Given the description of an element on the screen output the (x, y) to click on. 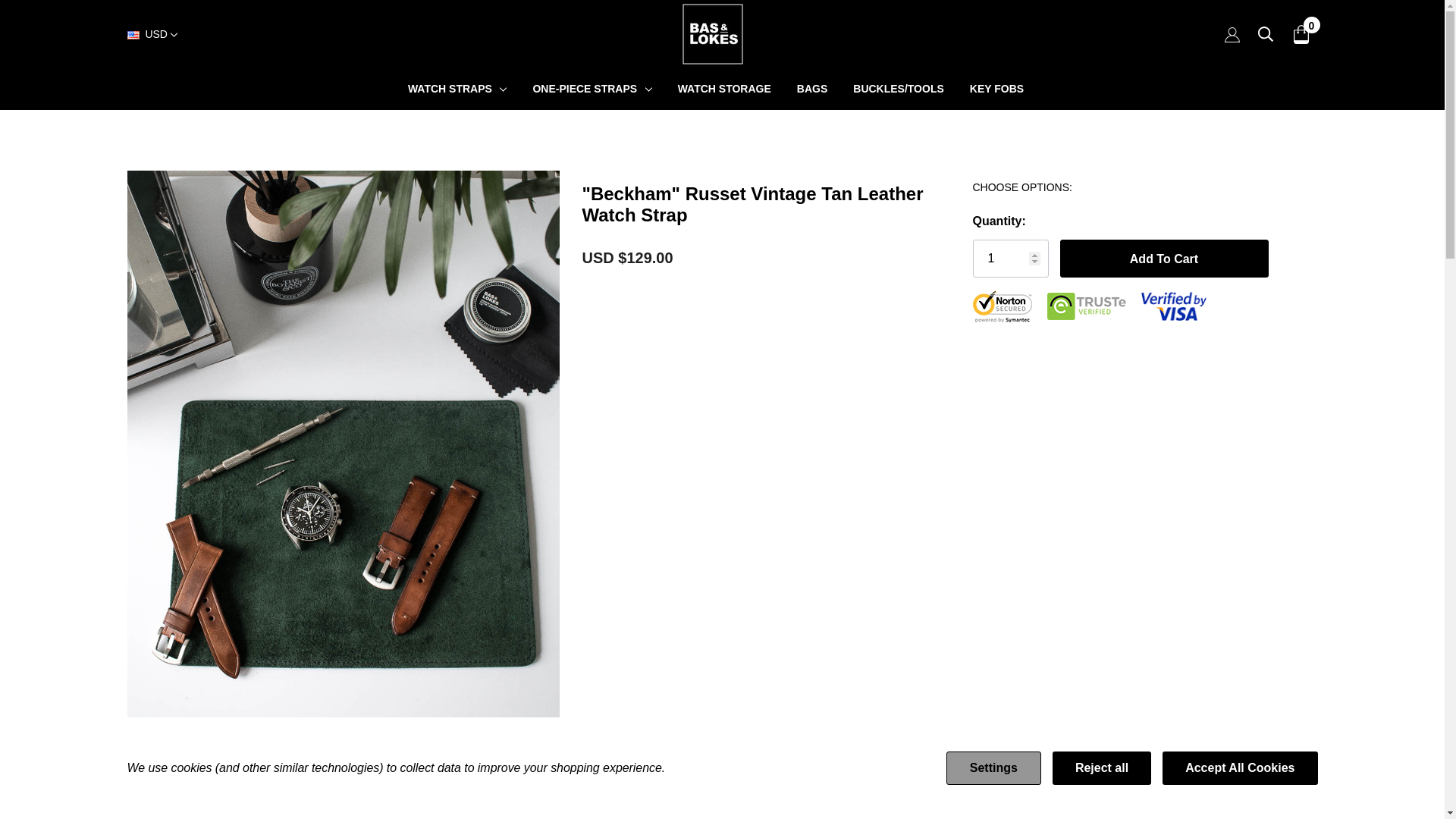
Tan Handcrafted Leather Watch Strap - Bas and Lokes (198, 803)
Tan Handcrafted Leather Watch Strap - Bas and Lokes (255, 803)
Tan Handcrafted Leather Watch Strap - Bas and Lokes (314, 803)
ONE-PIECE STRAPS (584, 88)
USD (152, 34)
Add to Cart (1163, 258)
Tan Handcrafted Leather Watch Strap - Bas and Lokes (431, 803)
Bas and Lokes  (712, 34)
Tan Handcrafted Leather Watch Strap - Bas and Lokes (372, 803)
"Beckham" Russet Vintage Tan Leather Watch Strap (489, 803)
